Given the description of an element on the screen output the (x, y) to click on. 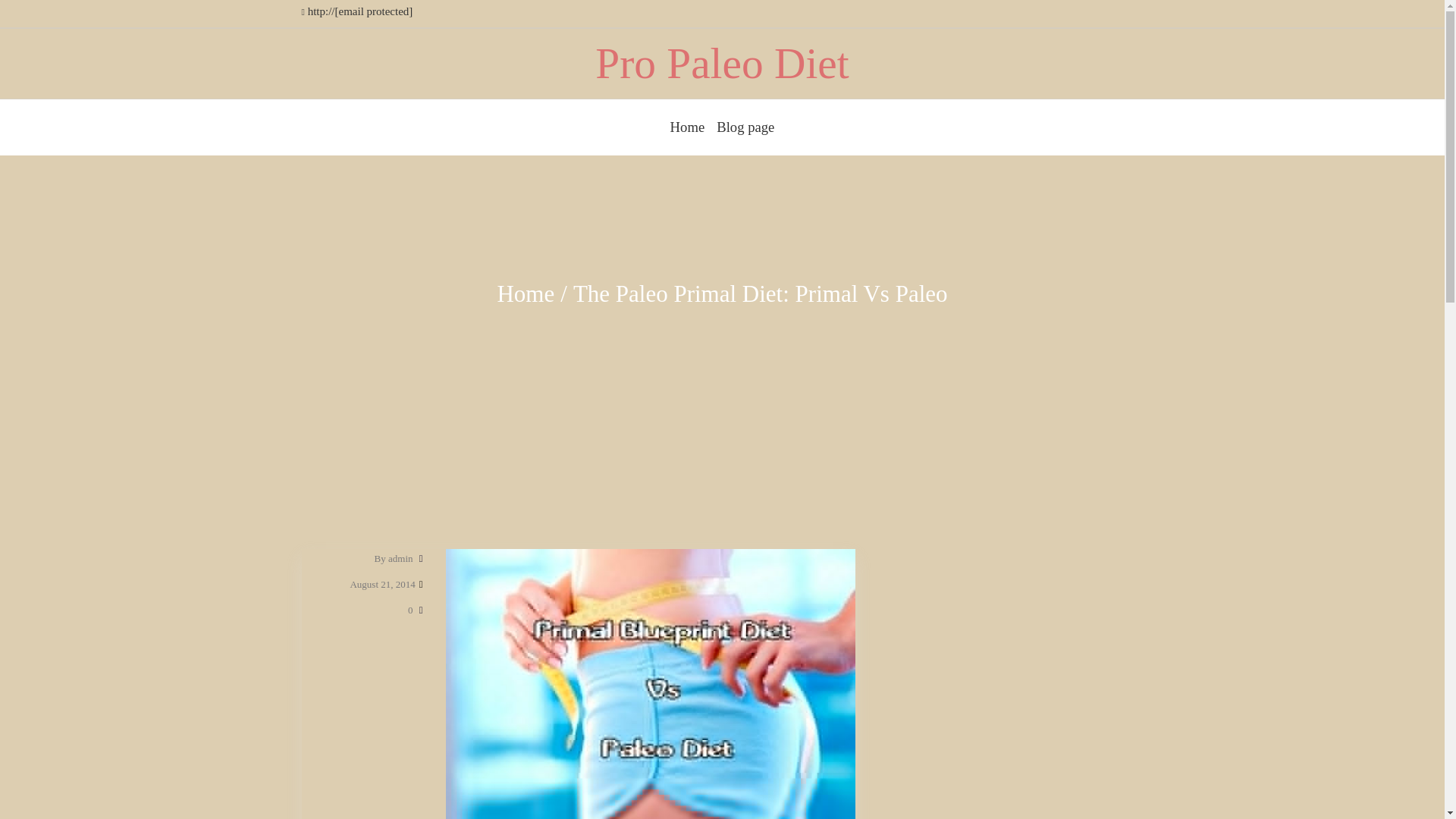
By admin (393, 558)
Home (687, 127)
Home (687, 127)
Blog page (745, 127)
Home (525, 293)
Pro Paleo Diet (721, 62)
Blog page (745, 127)
